Given the description of an element on the screen output the (x, y) to click on. 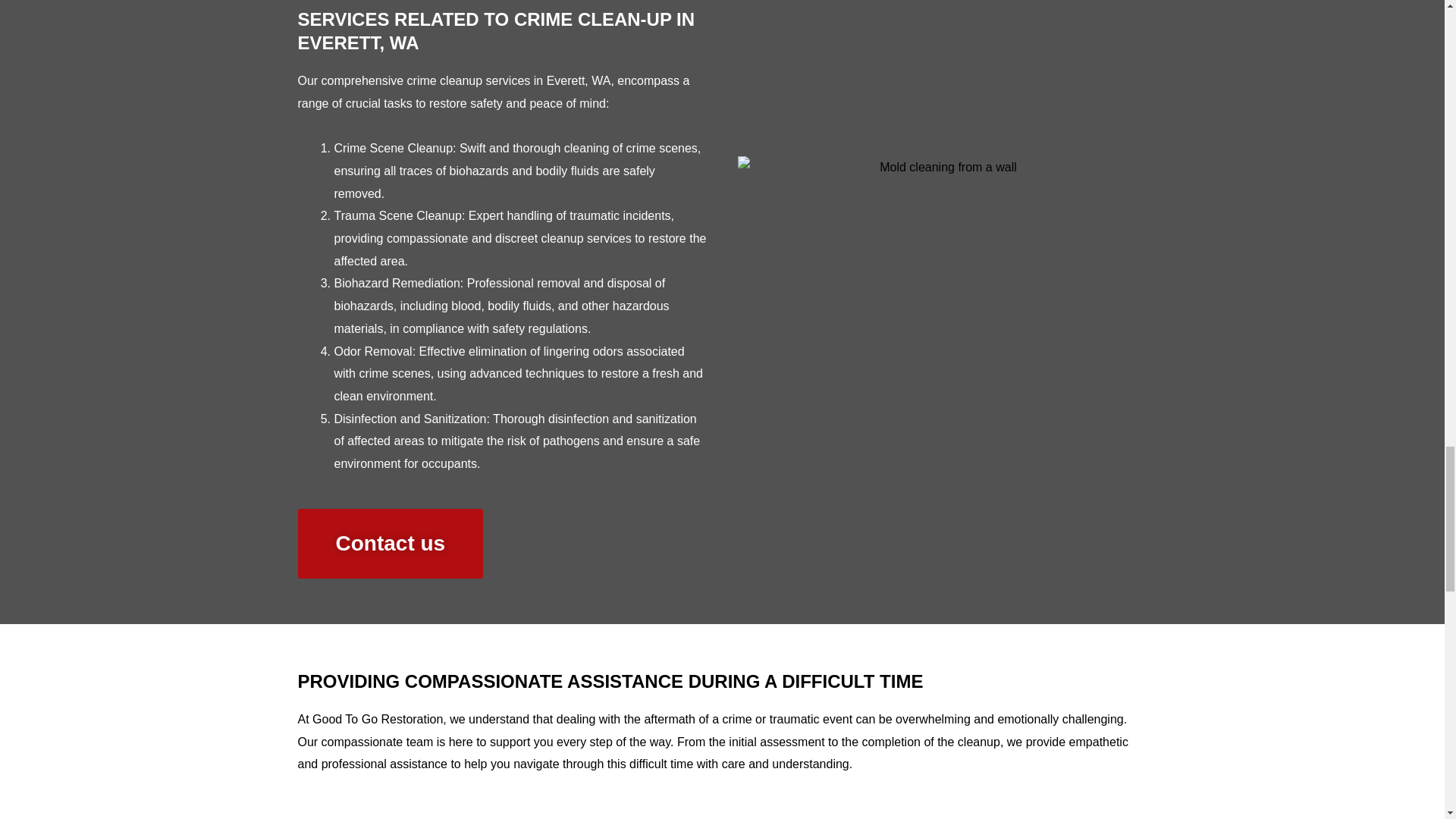
Contact us (390, 543)
